Given the description of an element on the screen output the (x, y) to click on. 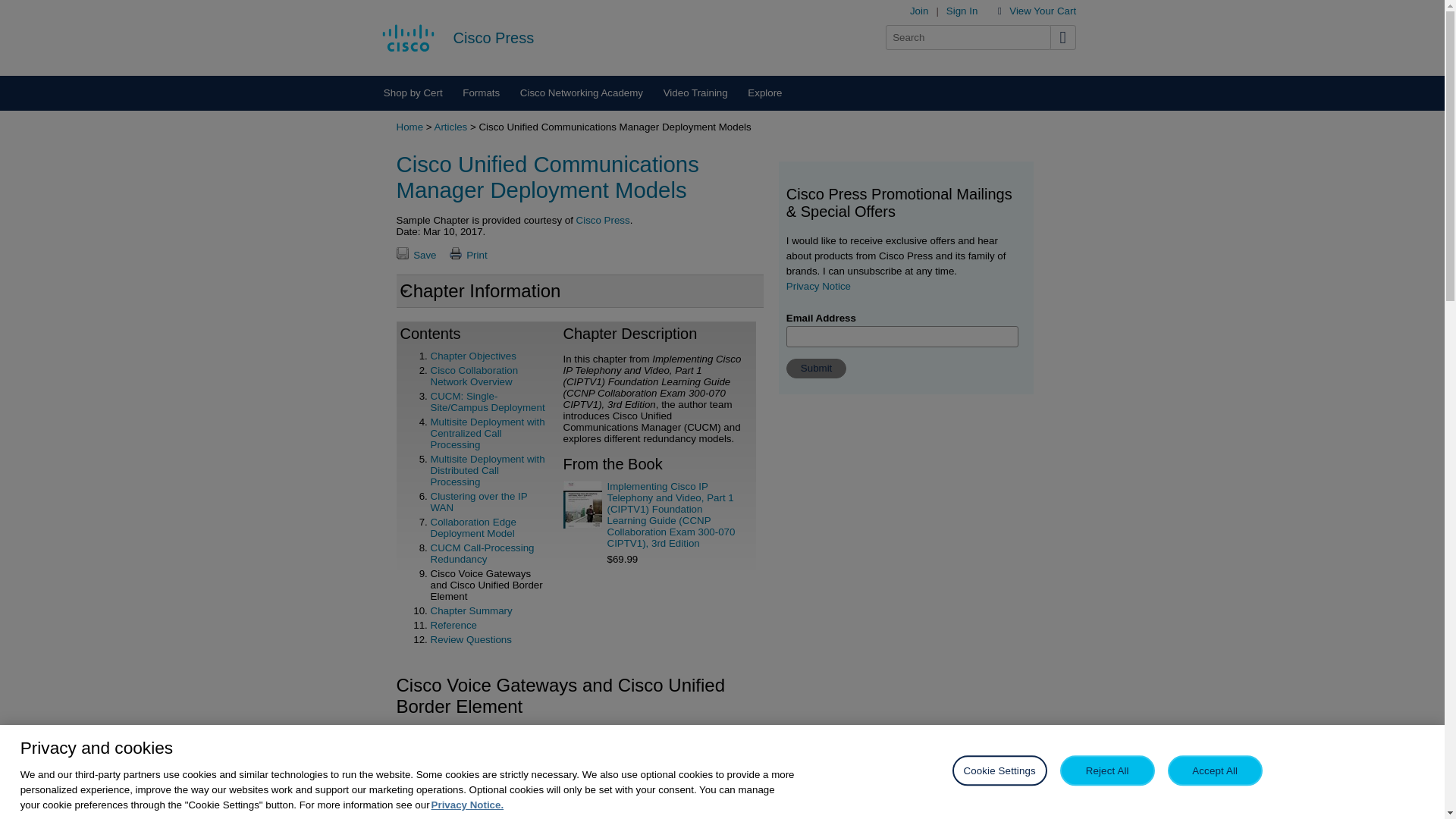
View Your Cart (1042, 10)
Formats (481, 92)
Join (919, 10)
Submit (815, 368)
Sign In (962, 10)
Cisco Networking Academy (580, 92)
Cisco.com (408, 37)
Video Training (695, 92)
Shop by Cert (411, 92)
Explore (765, 92)
